Given the description of an element on the screen output the (x, y) to click on. 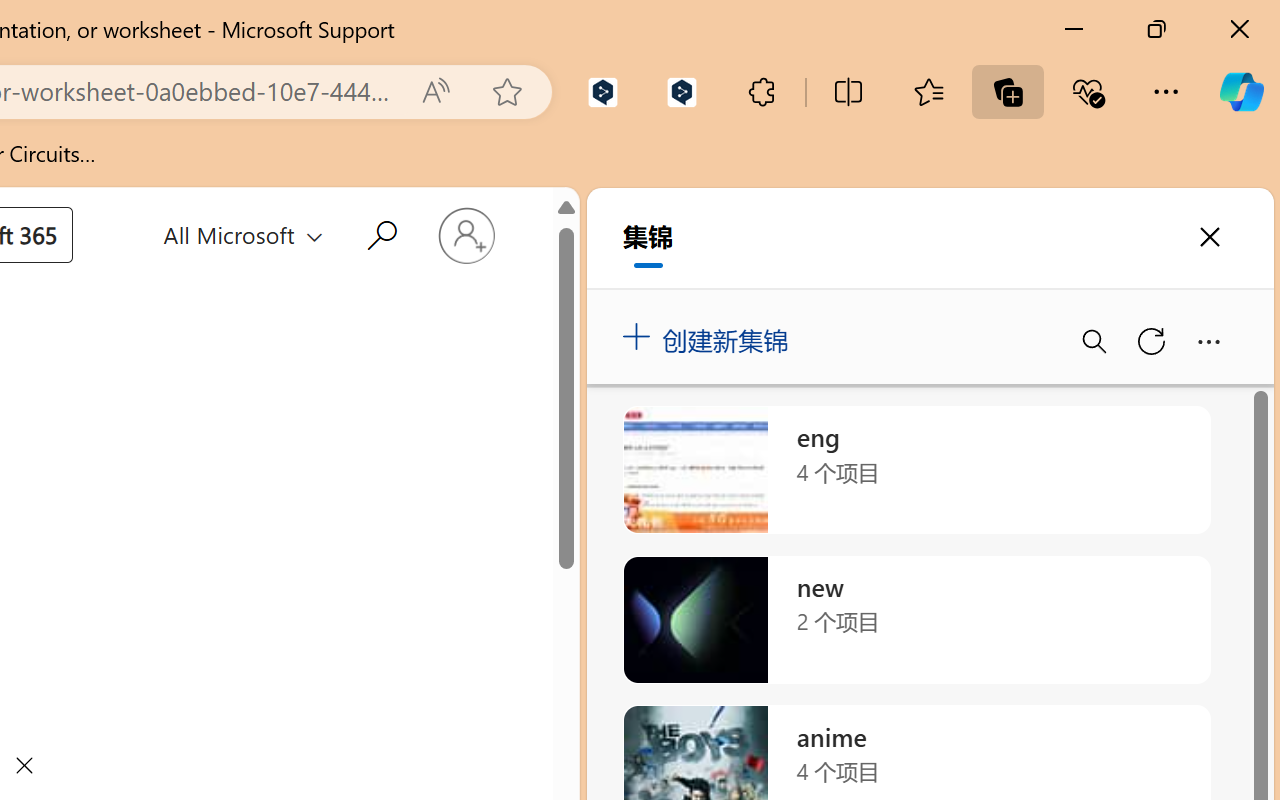
Copilot (Ctrl+Shift+.) (1241, 91)
